Given the description of an element on the screen output the (x, y) to click on. 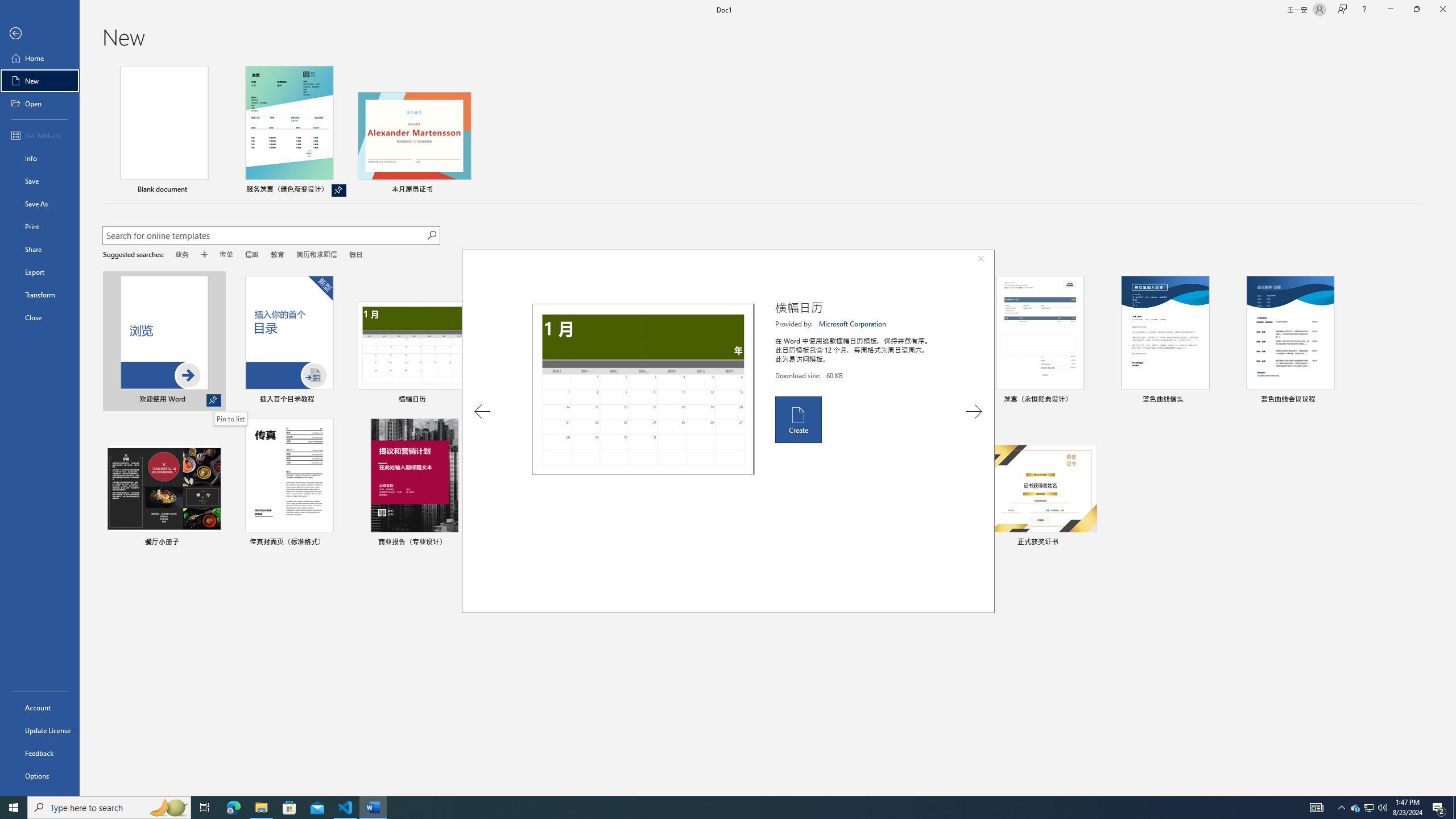
Pin to list (230, 418)
Update License (40, 730)
New (40, 80)
Search for online templates (264, 237)
